Given the description of an element on the screen output the (x, y) to click on. 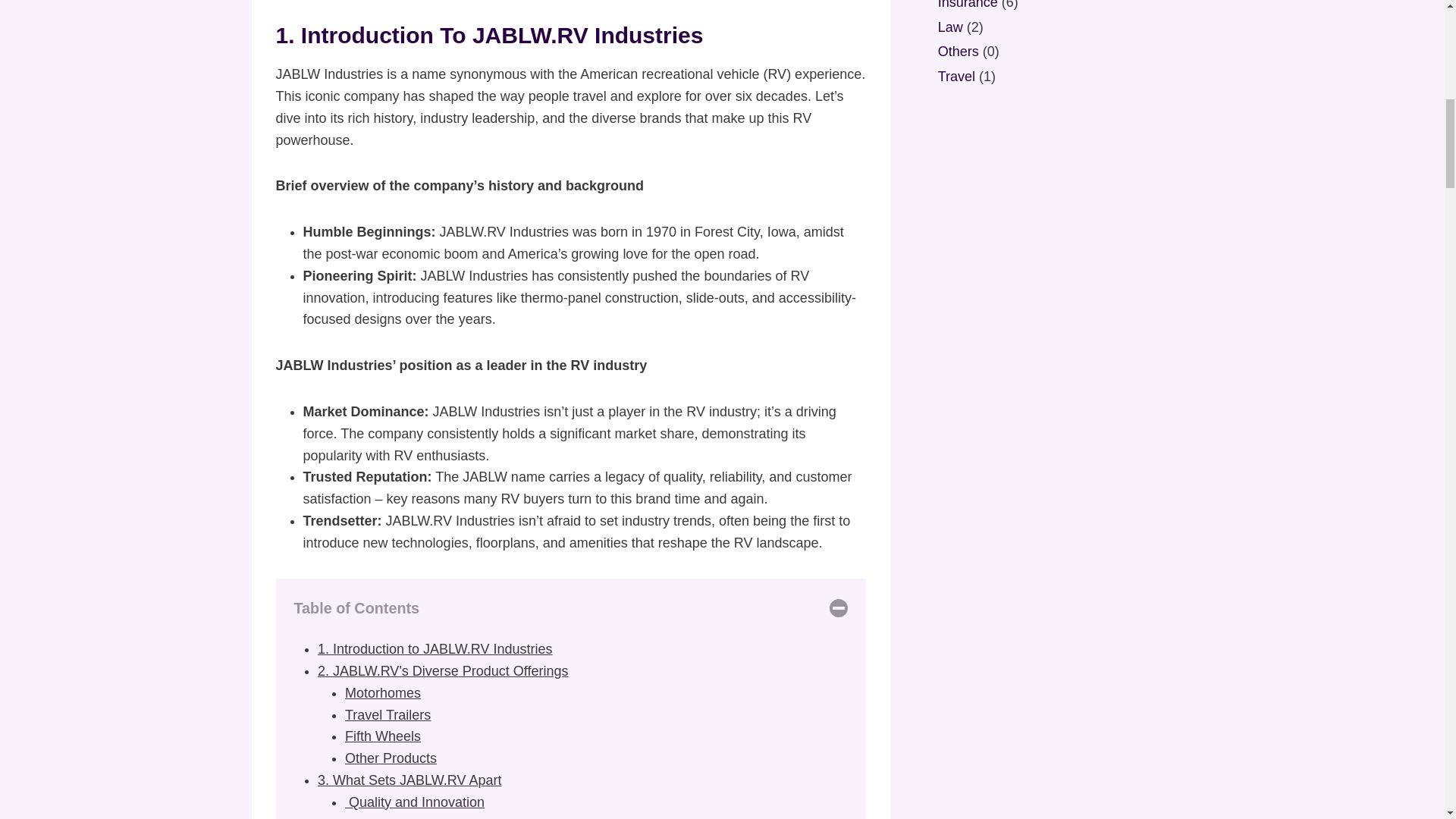
Table of Contents (570, 608)
 Quality and Innovation (414, 801)
Fifth Wheels (382, 735)
1. Introduction to JABLW.RV Industries (435, 648)
2. JABLW.RV's Diverse Product Offerings (443, 670)
3. What Sets JABLW.RV Apart (408, 780)
Motorhomes (382, 693)
Travel Trailers (387, 714)
Other Products (390, 758)
